Given the description of an element on the screen output the (x, y) to click on. 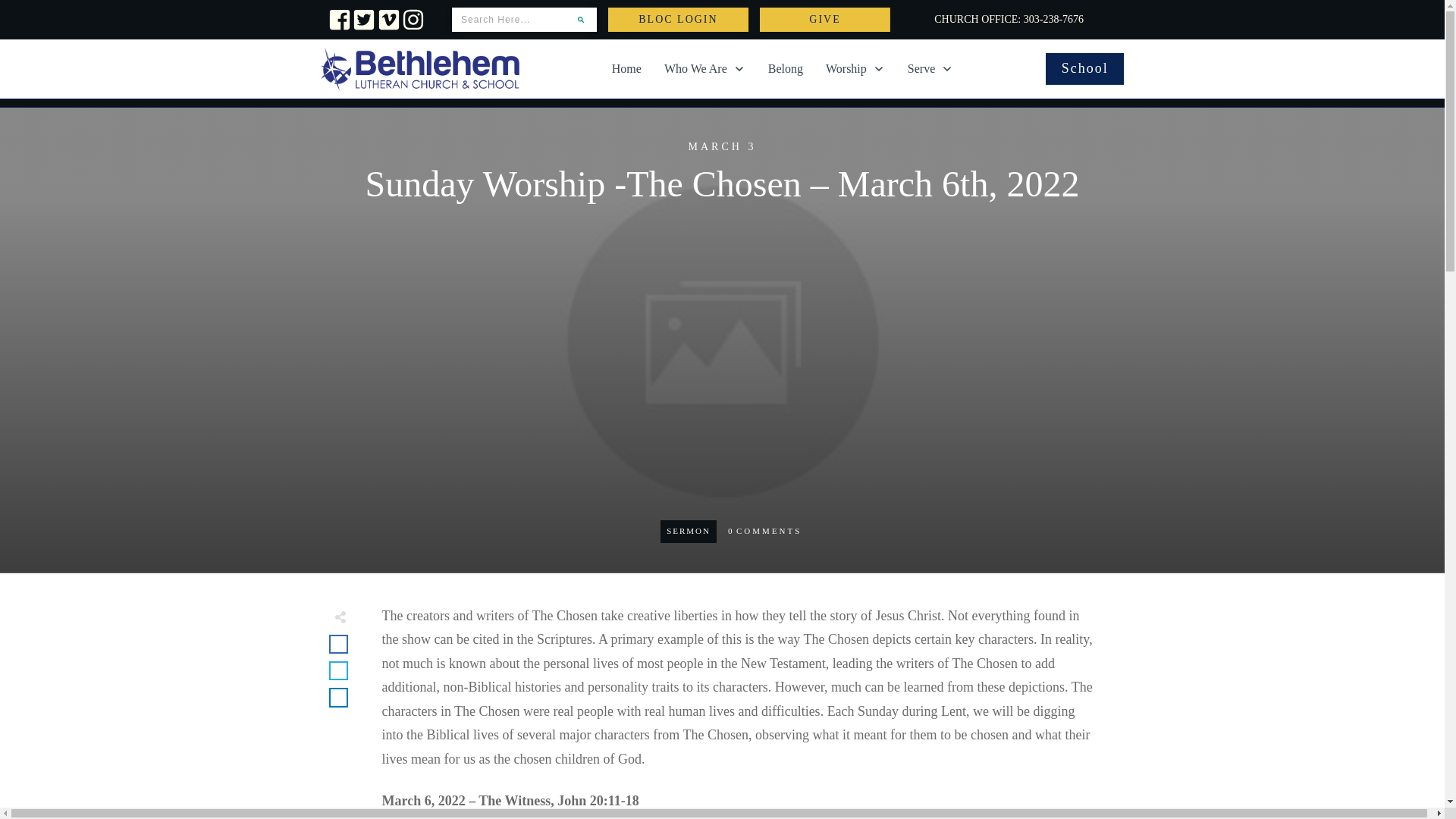
BLOC LOGIN (678, 19)
Home (626, 68)
SERMON (688, 530)
Serve (930, 68)
Worship (855, 68)
Belong (785, 68)
Sermon (688, 530)
GIVE (824, 19)
Who We Are (704, 68)
School (1084, 69)
